Given the description of an element on the screen output the (x, y) to click on. 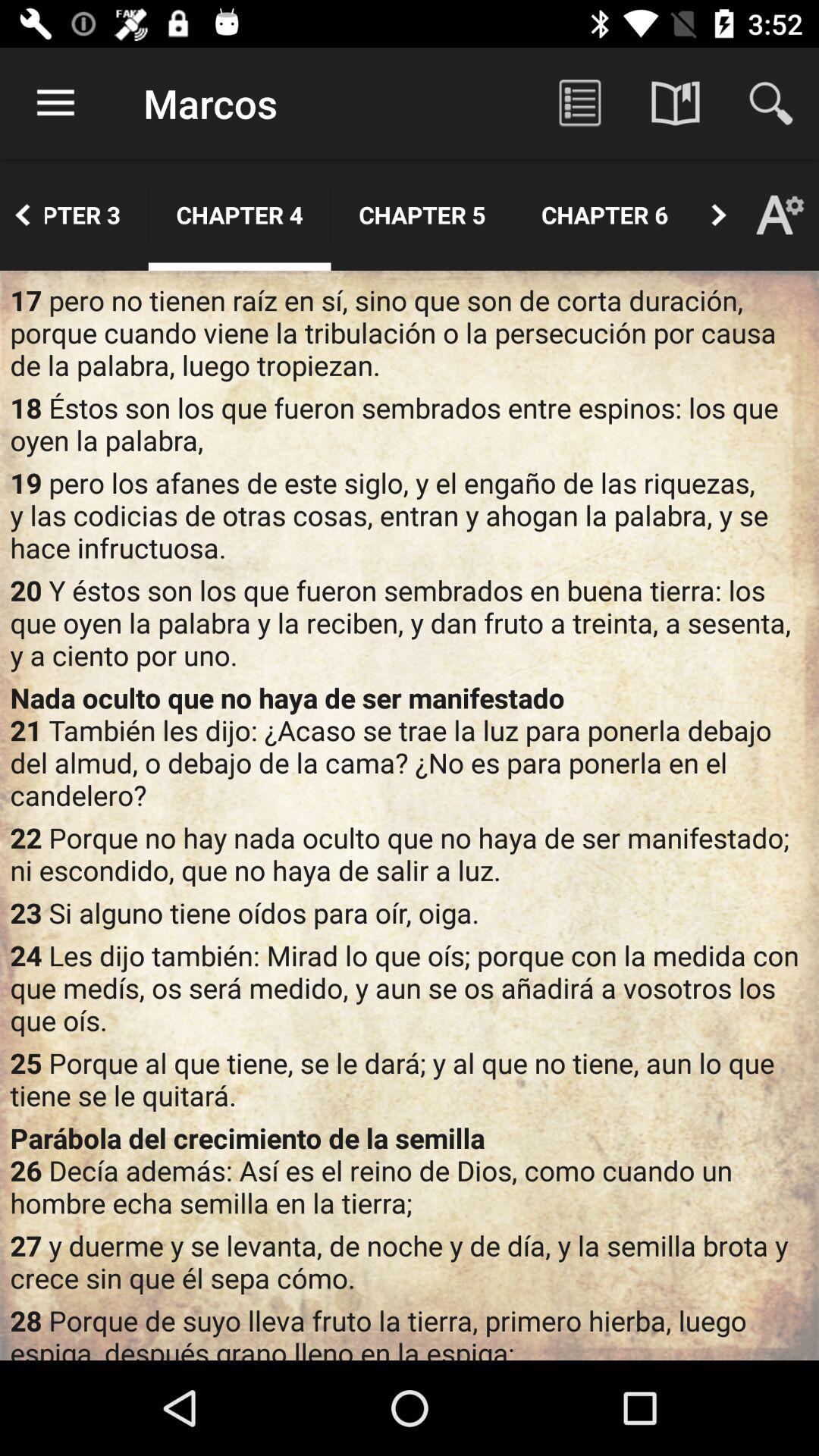
select 17 pero no (409, 332)
